Given the description of an element on the screen output the (x, y) to click on. 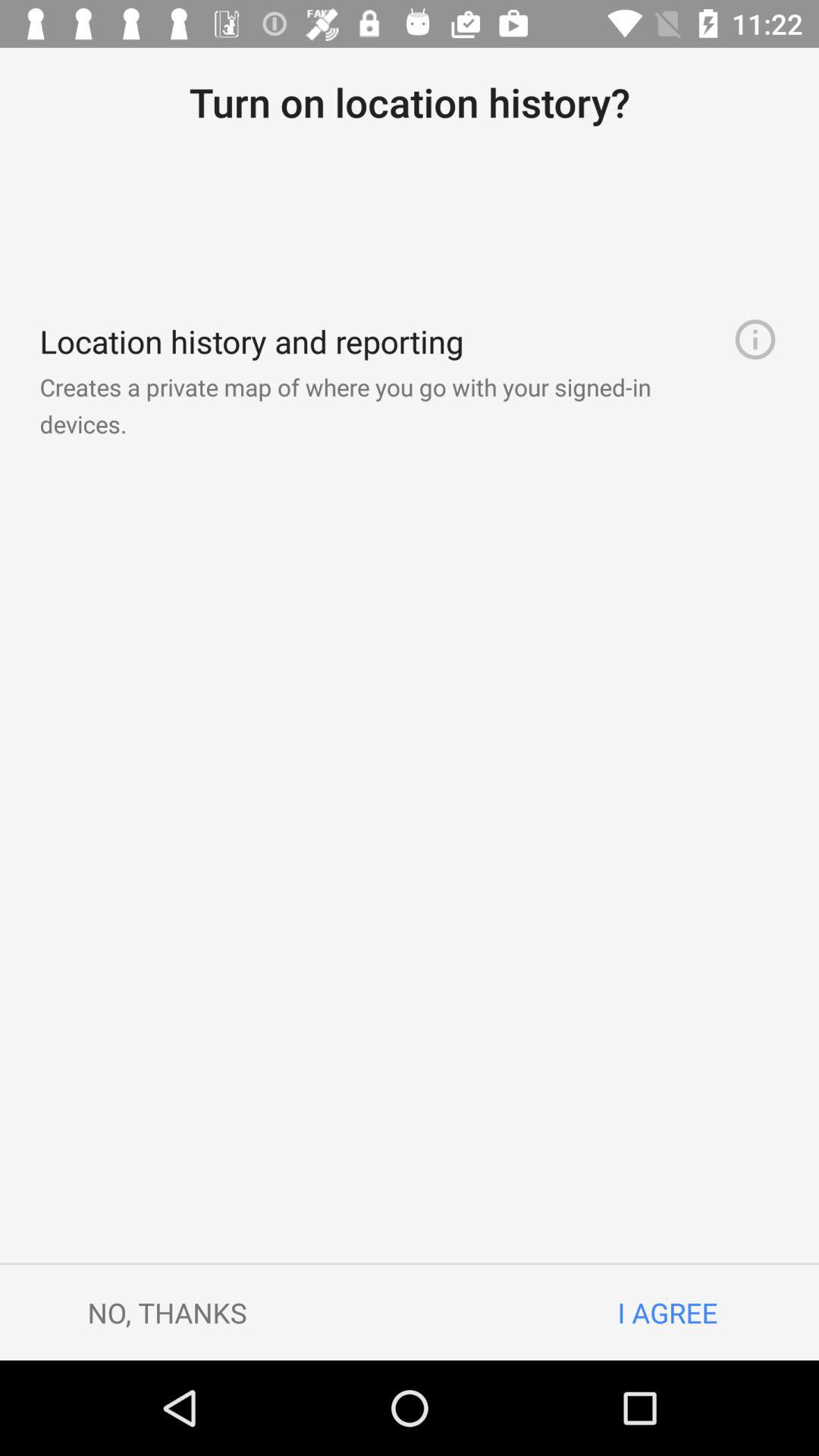
launch the no, thanks icon (166, 1312)
